Given the description of an element on the screen output the (x, y) to click on. 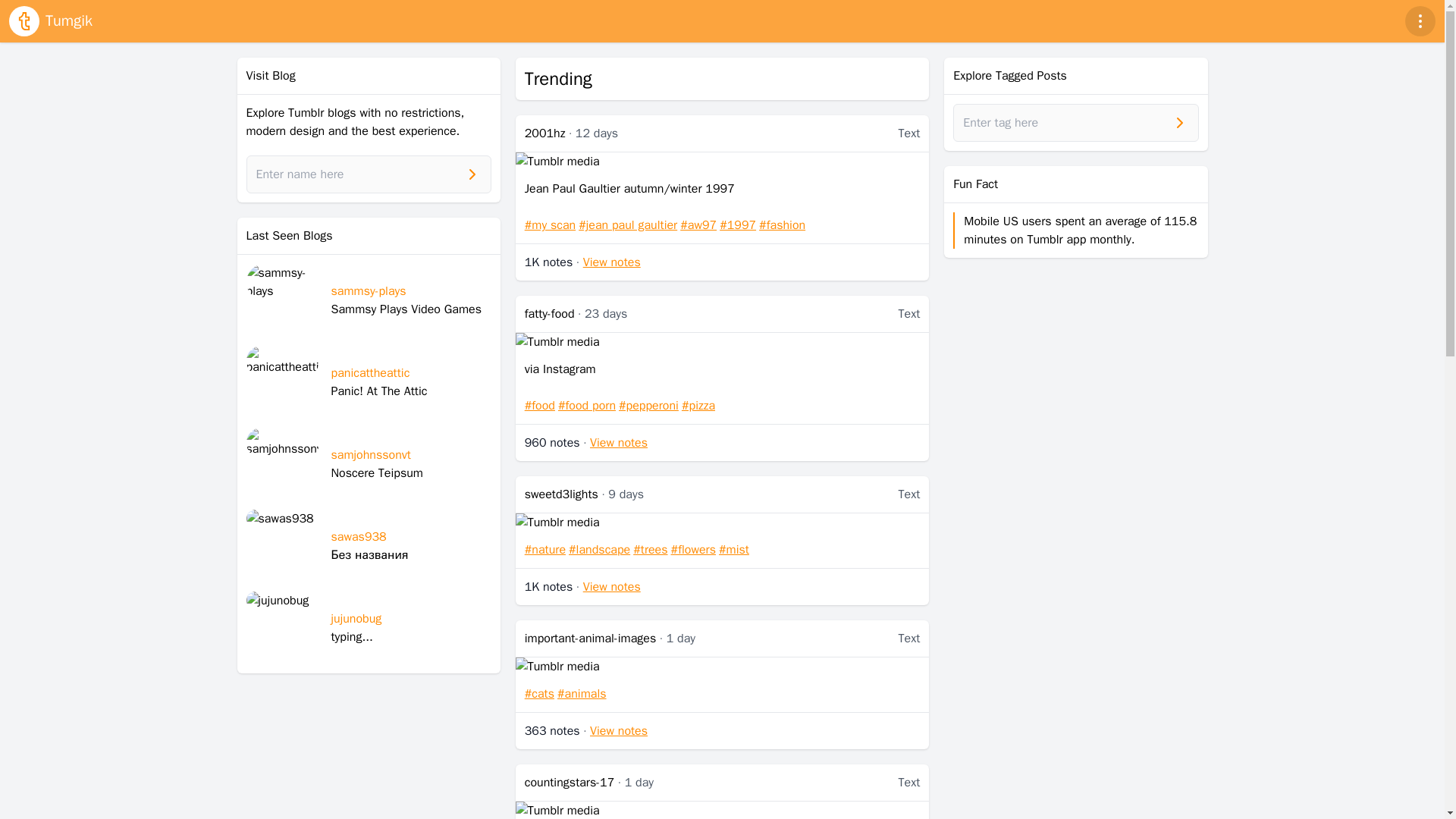
sawas938 (357, 536)
fatty-food (549, 313)
fatty-food (549, 313)
sammsy-plays (368, 290)
2001hz (545, 133)
panicattheattic (369, 372)
countingstars-17 (569, 782)
samjohnssonvt (370, 454)
panicattheattic (282, 381)
sweetd3lights (561, 494)
